Given the description of an element on the screen output the (x, y) to click on. 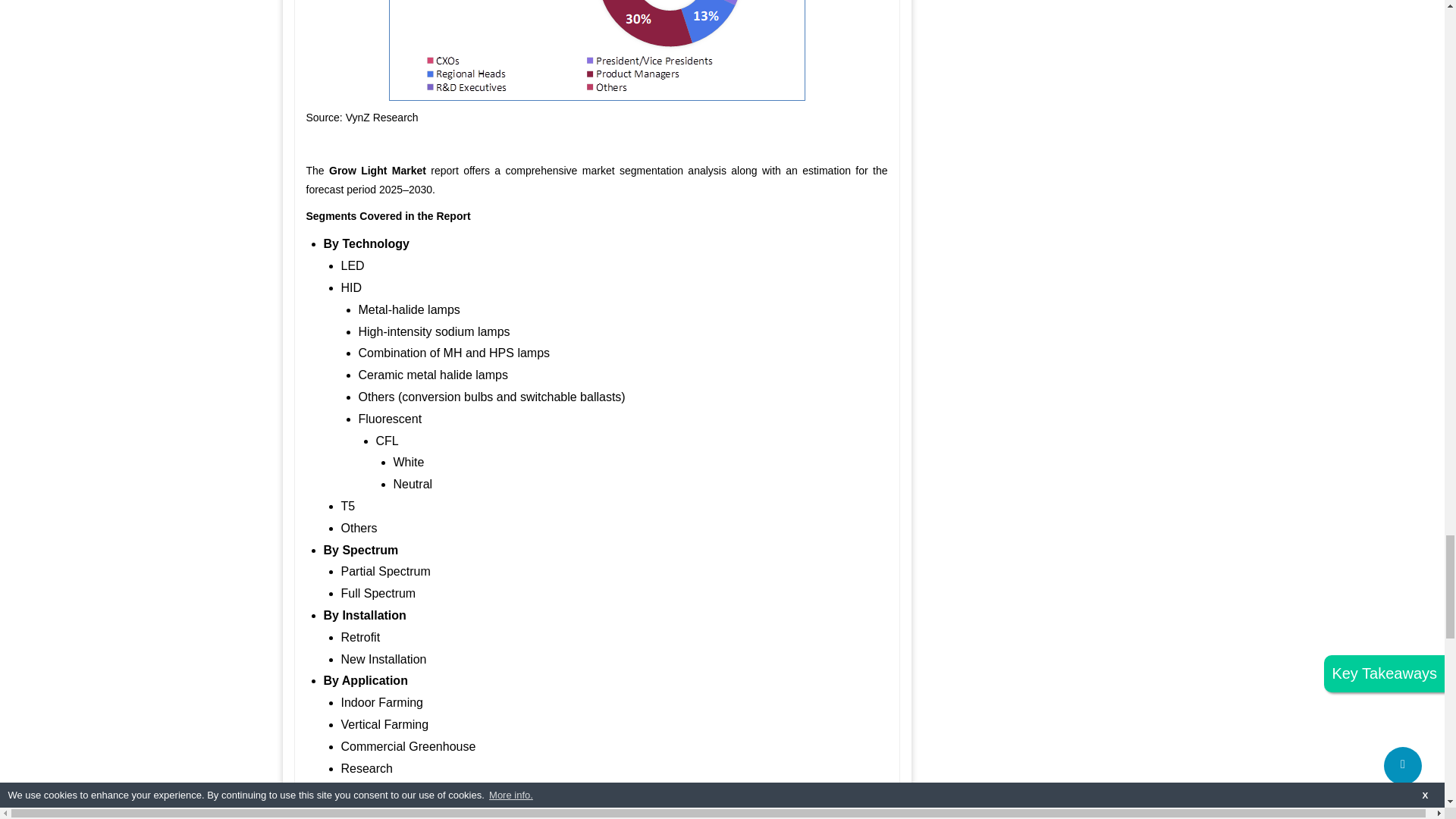
Grow Light Market Analysis (596, 50)
